Given the description of an element on the screen output the (x, y) to click on. 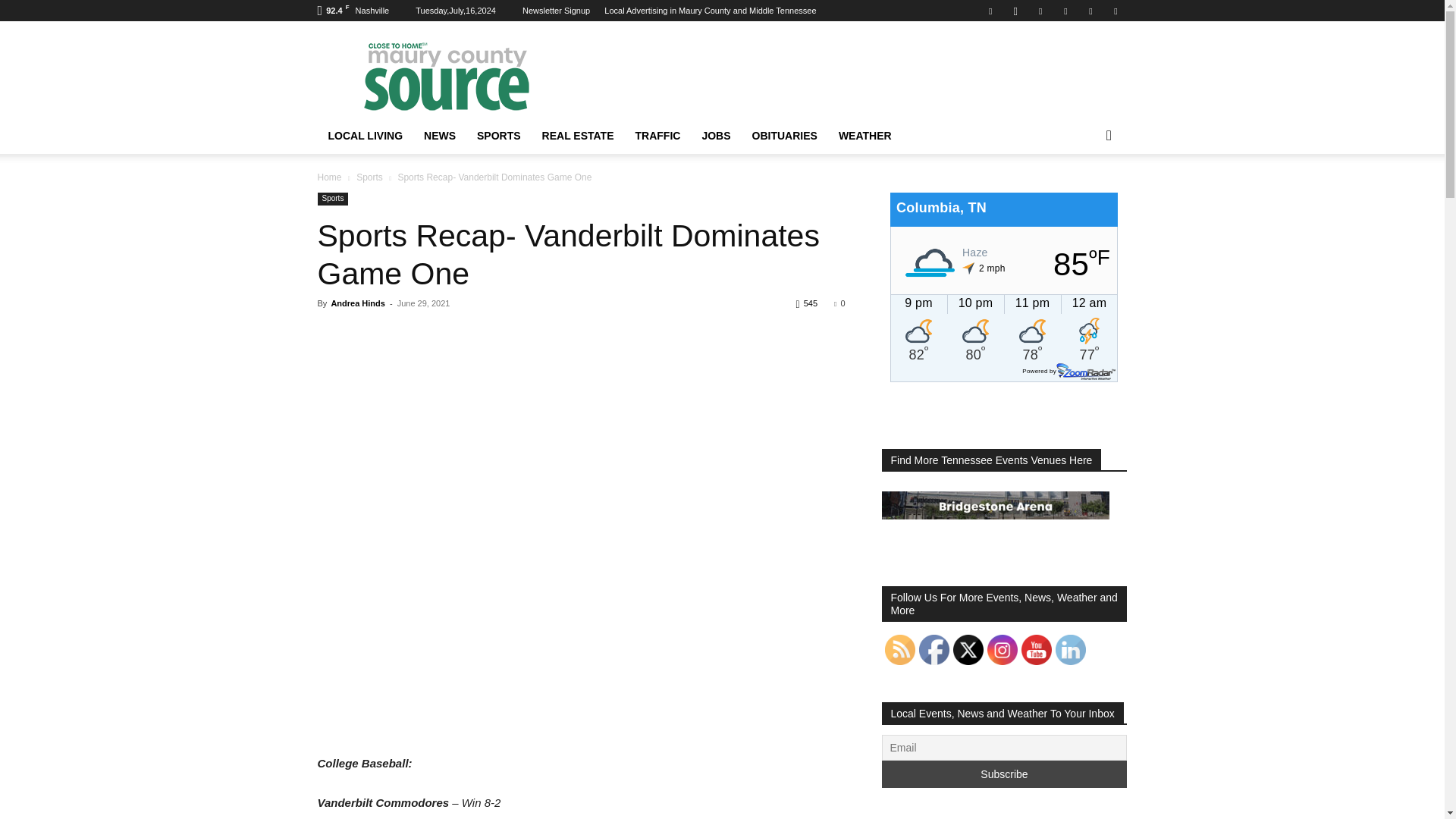
Mail (1040, 10)
Facebook (989, 10)
Maury County Source (445, 76)
Youtube (1114, 10)
Subscribe (1003, 773)
Pinterest (1065, 10)
Twitter (1090, 10)
Instagram (1015, 10)
